Given the description of an element on the screen output the (x, y) to click on. 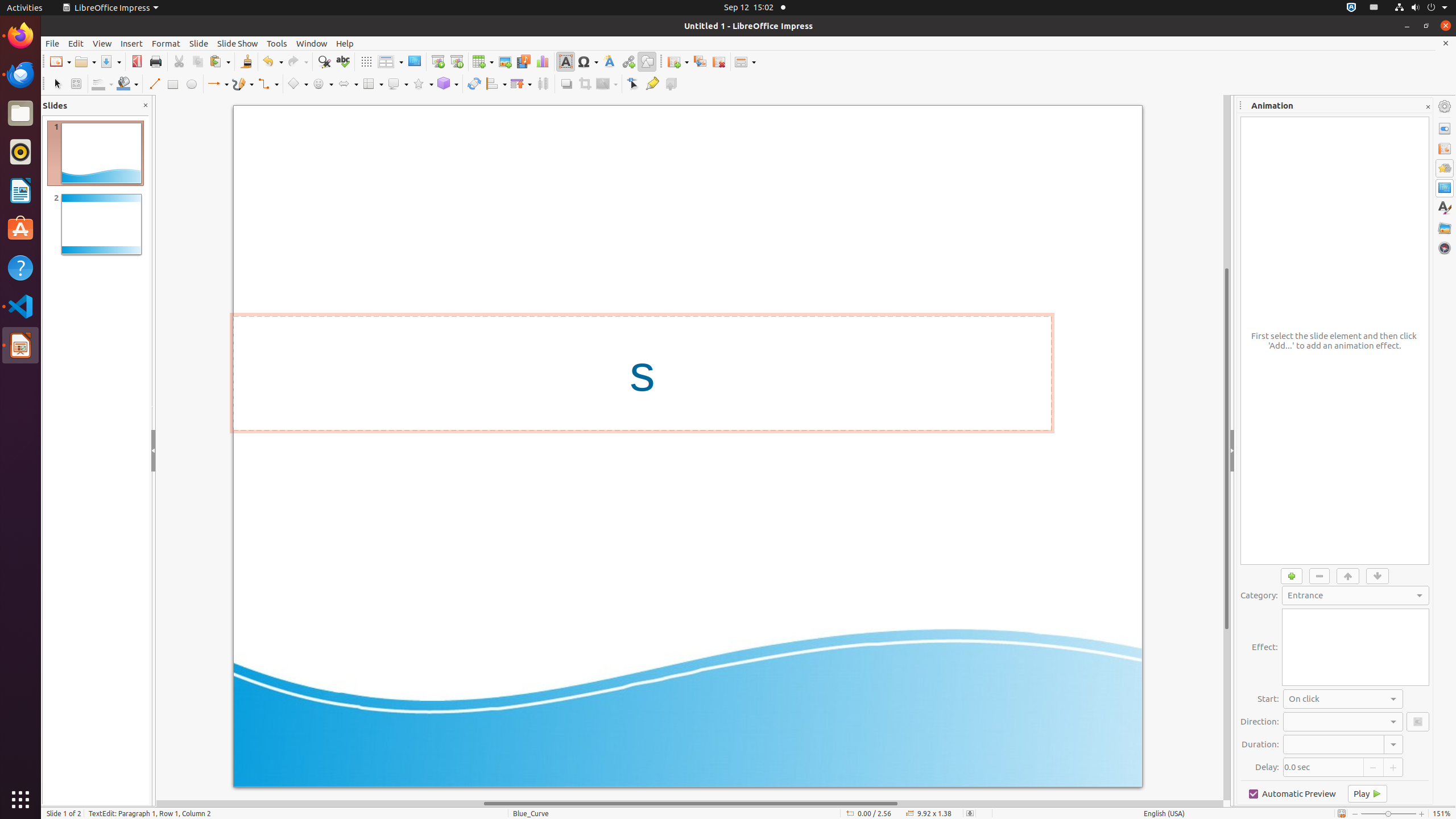
Select Element type: push-button (56, 83)
Files Element type: push-button (20, 113)
Fontwork Style Element type: toggle-button (609, 61)
PDF Element type: push-button (136, 61)
Clone Element type: push-button (245, 61)
